Given the description of an element on the screen output the (x, y) to click on. 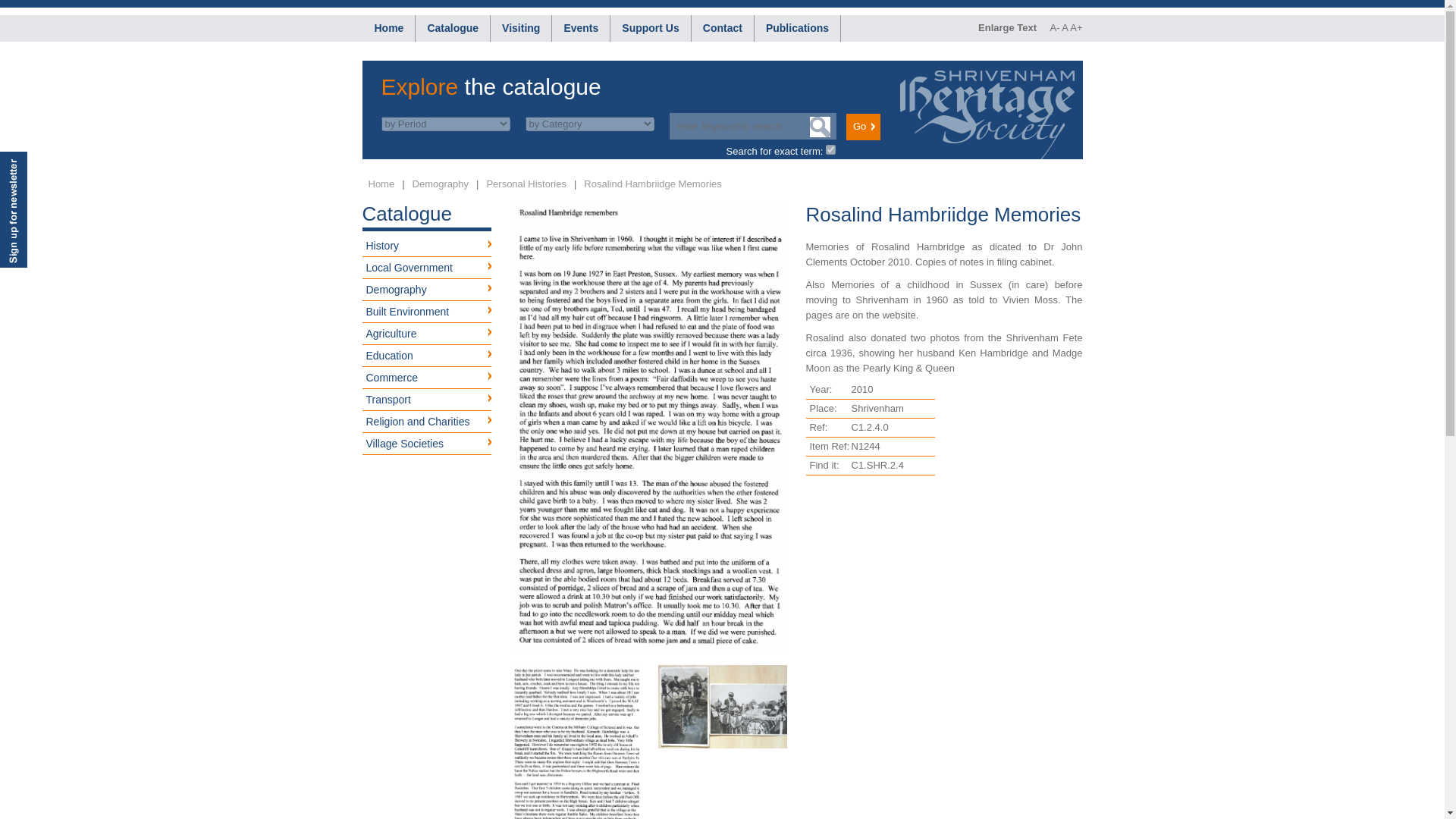
Rosalind Hambriidge Memories (651, 183)
Support Us (650, 28)
Agriculture (427, 333)
Visiting (520, 28)
Home (381, 183)
Built Environment (427, 311)
catalogue (451, 28)
Contact (722, 28)
Religion and Charities (427, 422)
Demography (440, 183)
Village Societies (427, 444)
Local Government (427, 268)
Personal Histories (526, 183)
support (650, 28)
Publications (797, 28)
